Given the description of an element on the screen output the (x, y) to click on. 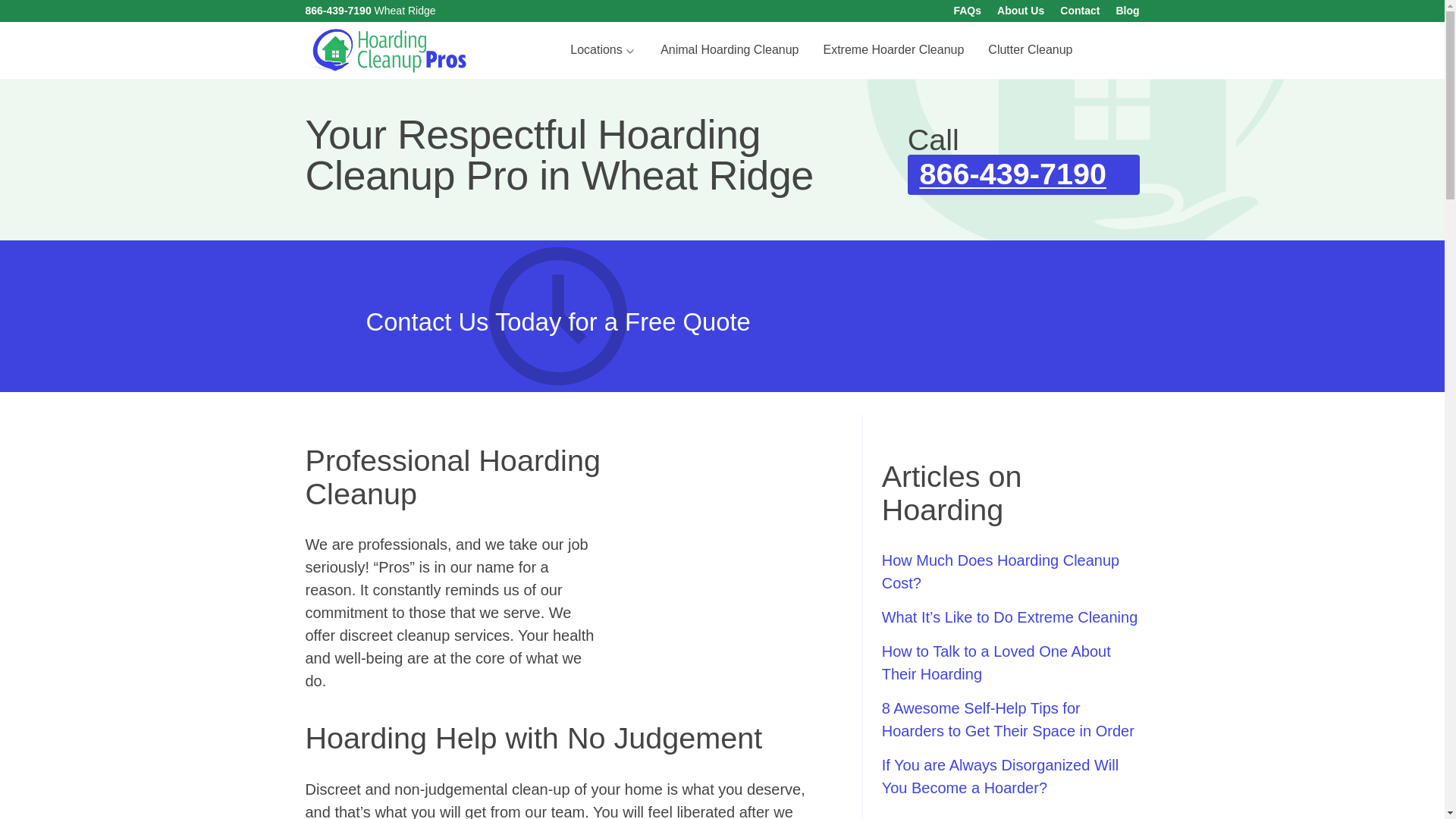
866-439-7190 (337, 10)
Contact (1079, 10)
Clutter Cleanup (1029, 49)
Animal Hoarding Cleanup (728, 49)
Extreme Hoarder Cleanup (892, 49)
FAQs (967, 10)
About Us (1020, 10)
Blog (1126, 10)
Locations (602, 49)
866-439-7190 (1023, 174)
